Given the description of an element on the screen output the (x, y) to click on. 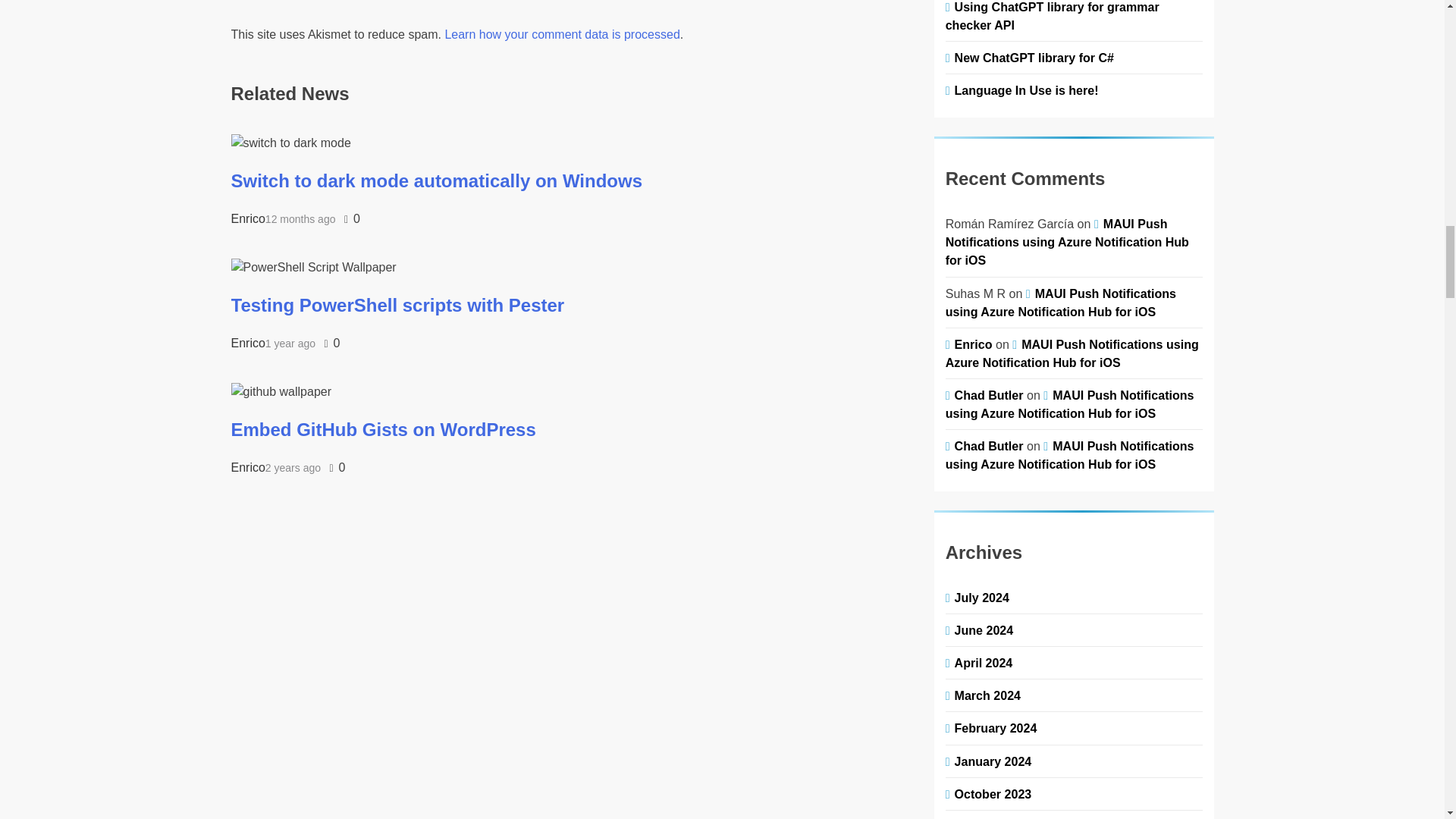
Comment Form (574, 4)
